Given the description of an element on the screen output the (x, y) to click on. 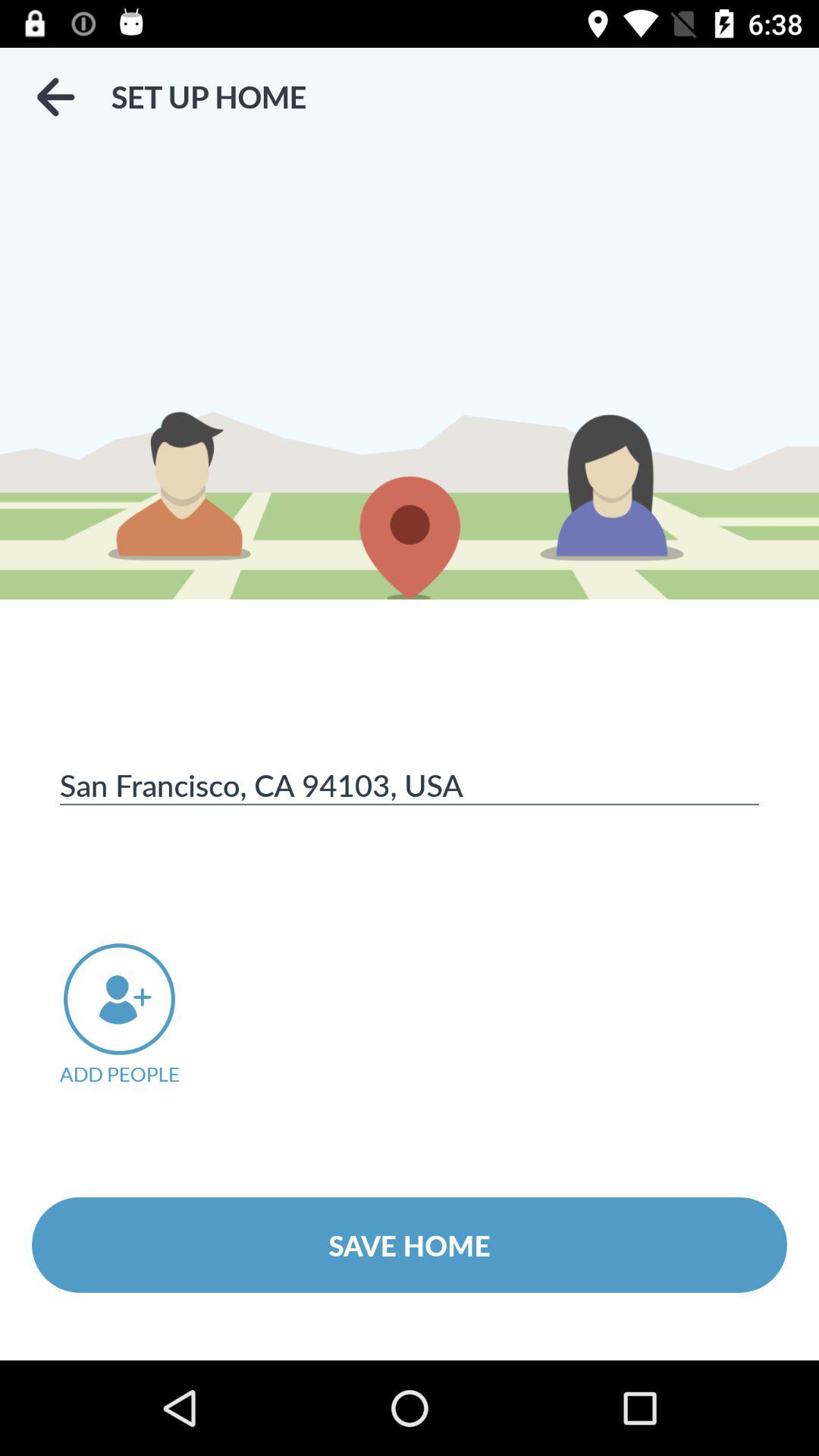
press the item above save home (140, 1014)
